Given the description of an element on the screen output the (x, y) to click on. 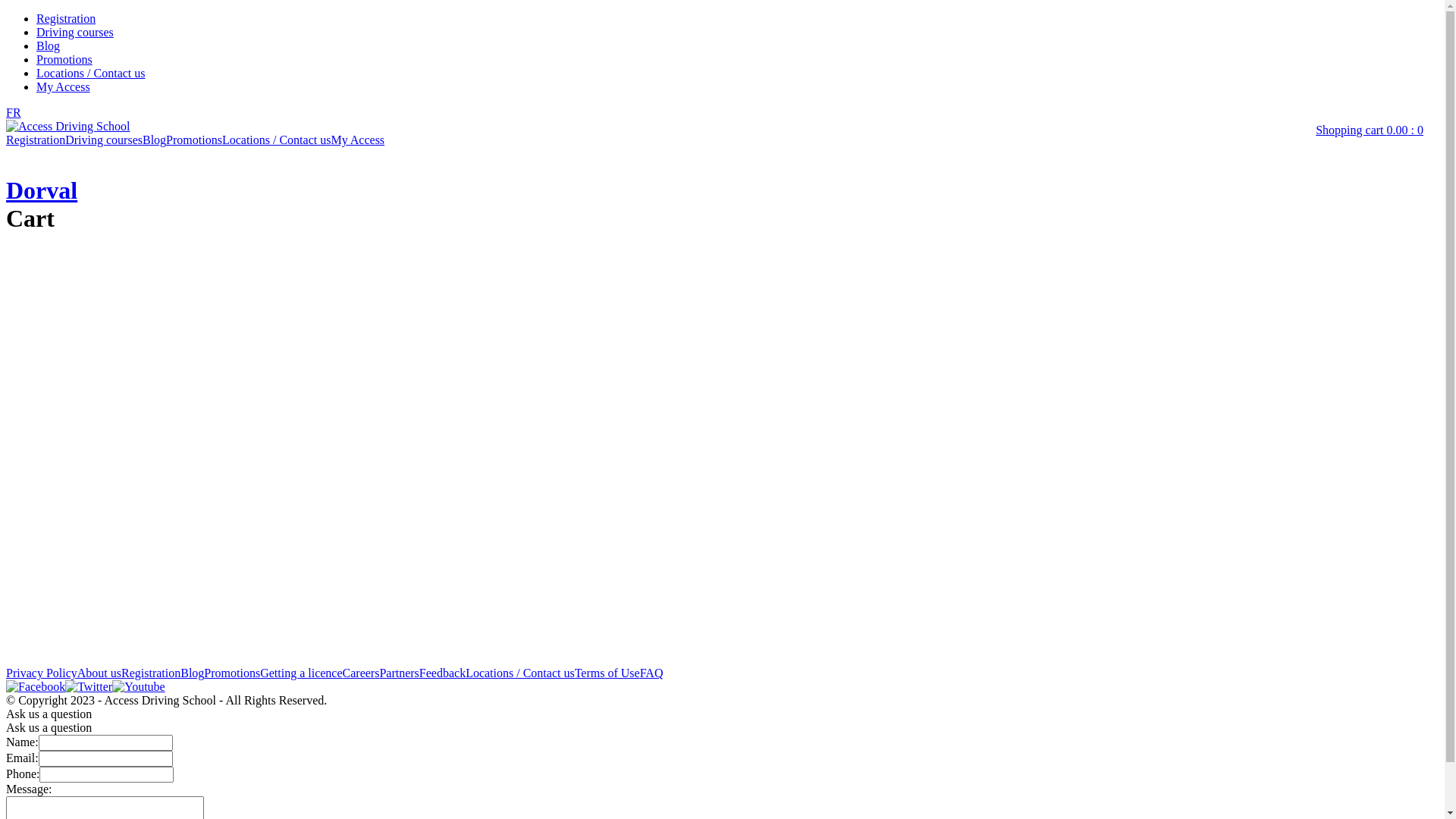
Locations / Contact us Element type: text (519, 672)
Driving courses Element type: text (74, 31)
Driving courses Element type: text (103, 139)
Locations / Contact us Element type: text (90, 72)
FR Element type: text (13, 112)
Privacy Policy Element type: text (41, 672)
About us Element type: text (99, 672)
Partners Element type: text (398, 672)
Registration Element type: text (65, 18)
Promotions Element type: text (194, 139)
Registration Element type: text (150, 672)
My Access Element type: text (63, 86)
Locations / Contact us Element type: text (276, 139)
Blog Element type: text (47, 45)
Promotions Element type: text (64, 59)
Careers Element type: text (360, 672)
Terms of Use Element type: text (607, 672)
Getting a licence Element type: text (301, 672)
Feedback Element type: text (442, 672)
My Access Element type: text (357, 139)
Promotions Element type: text (231, 672)
Blog Element type: text (154, 139)
FAQ Element type: text (651, 672)
Dorval Element type: text (41, 189)
Blog Element type: text (191, 672)
Shopping cart 0.00 : 0 Element type: text (1369, 129)
Registration Element type: text (35, 139)
